Given the description of an element on the screen output the (x, y) to click on. 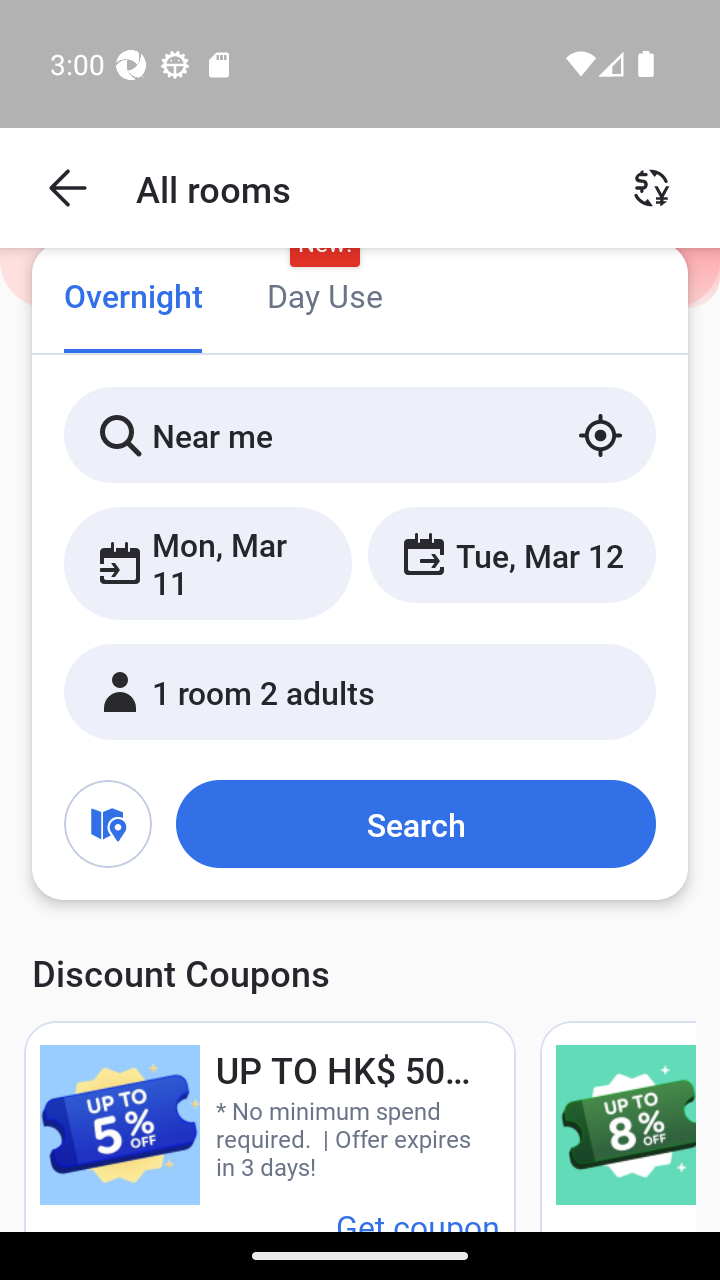
Day Use (324, 298)
Near me (359, 434)
Mon, Mar 11 (208, 562)
Tue, Mar 12 (511, 554)
1 room 2 adults (359, 691)
Search (415, 823)
